Given the description of an element on the screen output the (x, y) to click on. 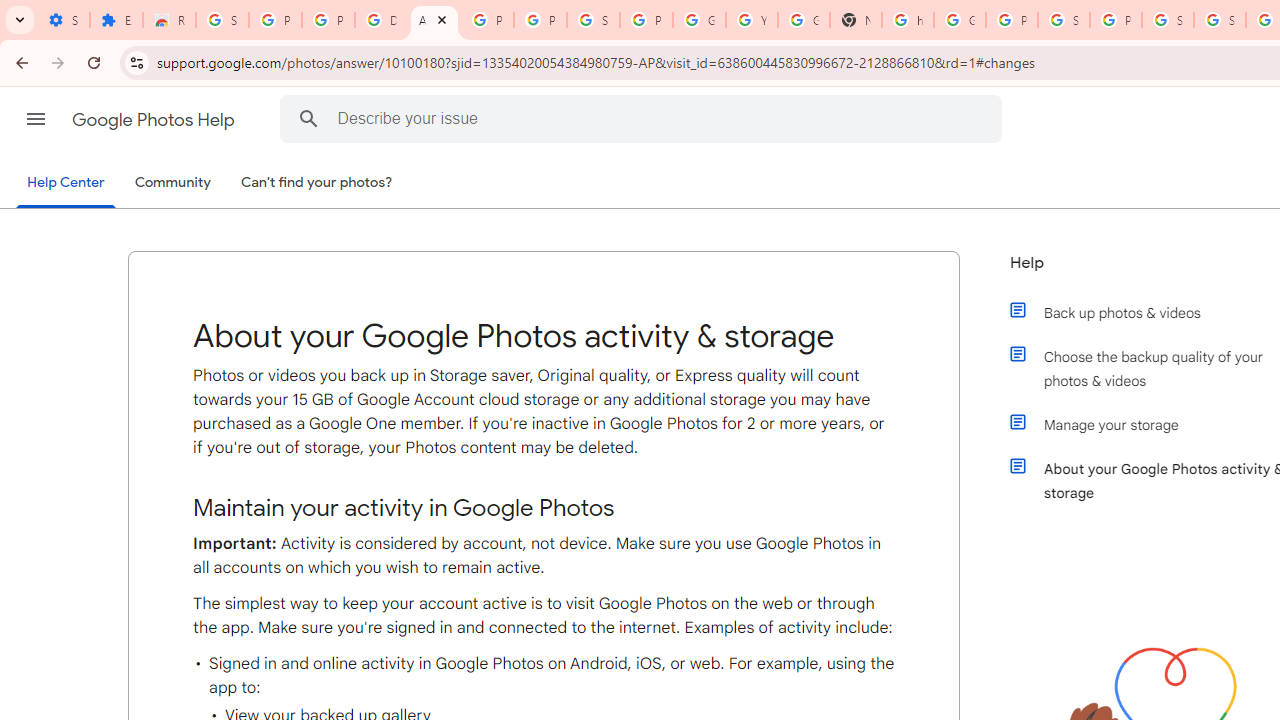
Describe your issue (644, 118)
Sign in - Google Accounts (593, 20)
Google Account (699, 20)
Main menu (35, 119)
Sign in - Google Accounts (1167, 20)
YouTube (751, 20)
Delete photos & videos - Computer - Google Photos Help (381, 20)
